Given the description of an element on the screen output the (x, y) to click on. 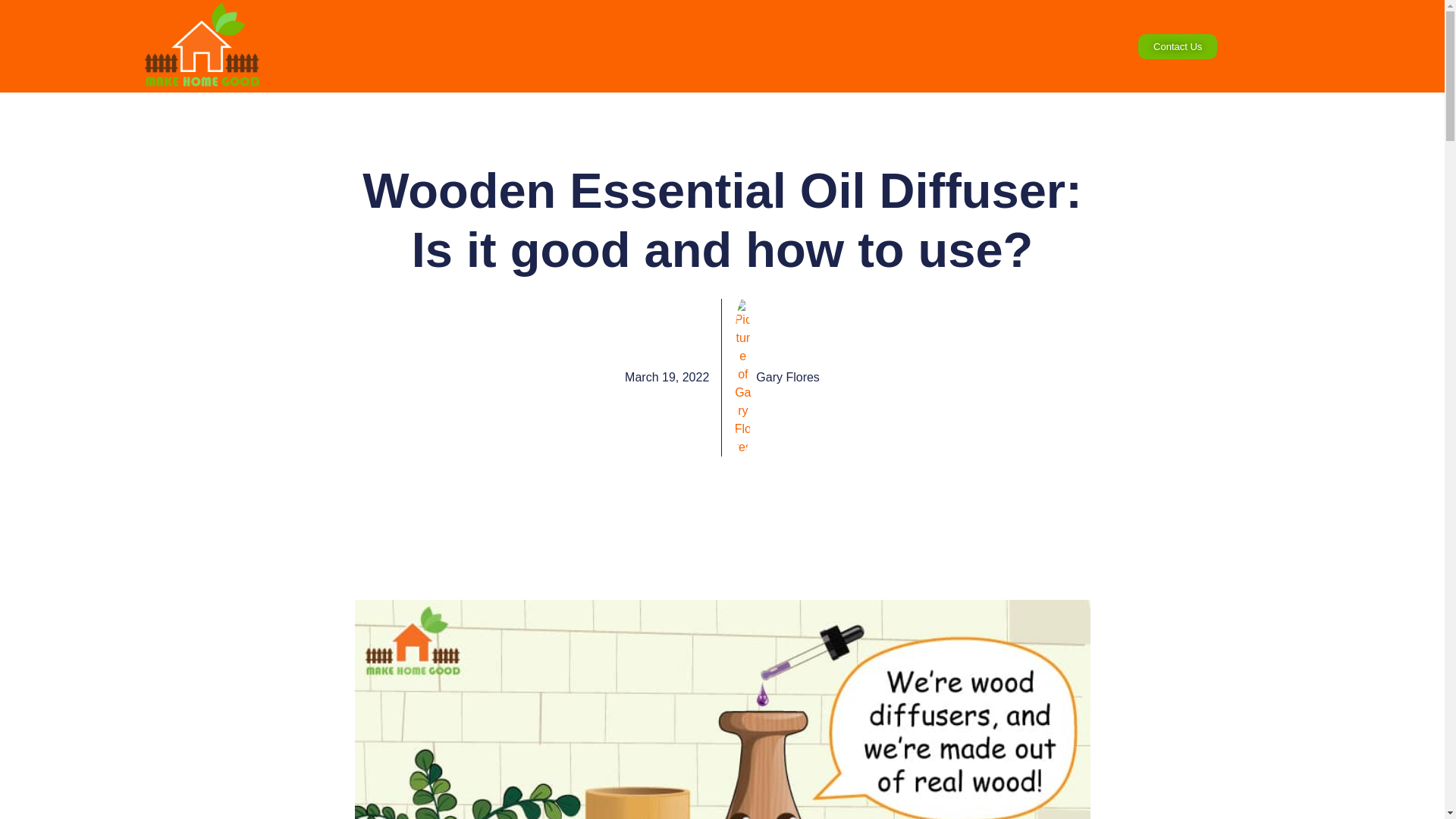
March 19, 2022 (666, 377)
Contact Us (1177, 45)
